Given the description of an element on the screen output the (x, y) to click on. 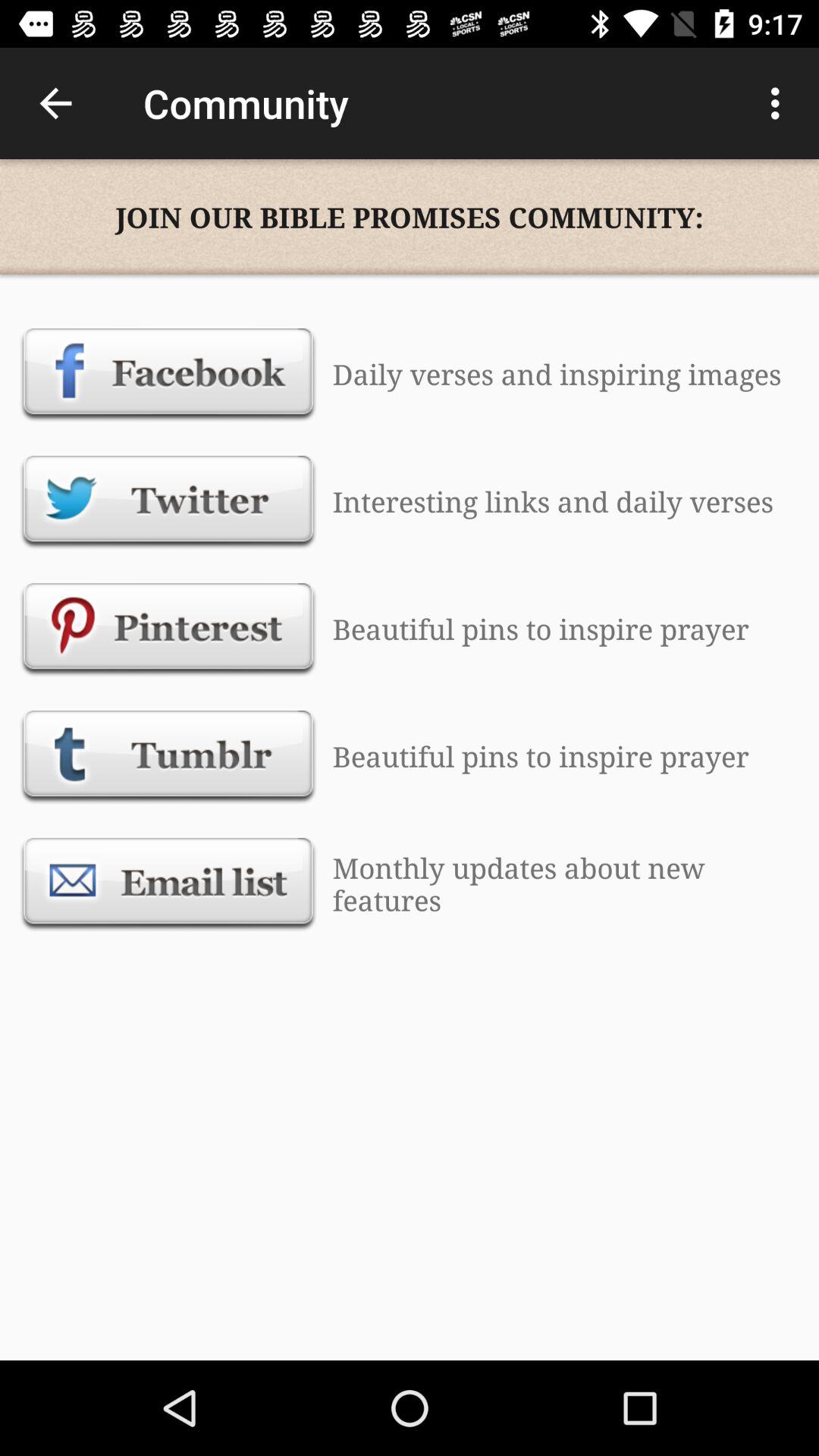
signs me up for their emal list (167, 883)
